Given the description of an element on the screen output the (x, y) to click on. 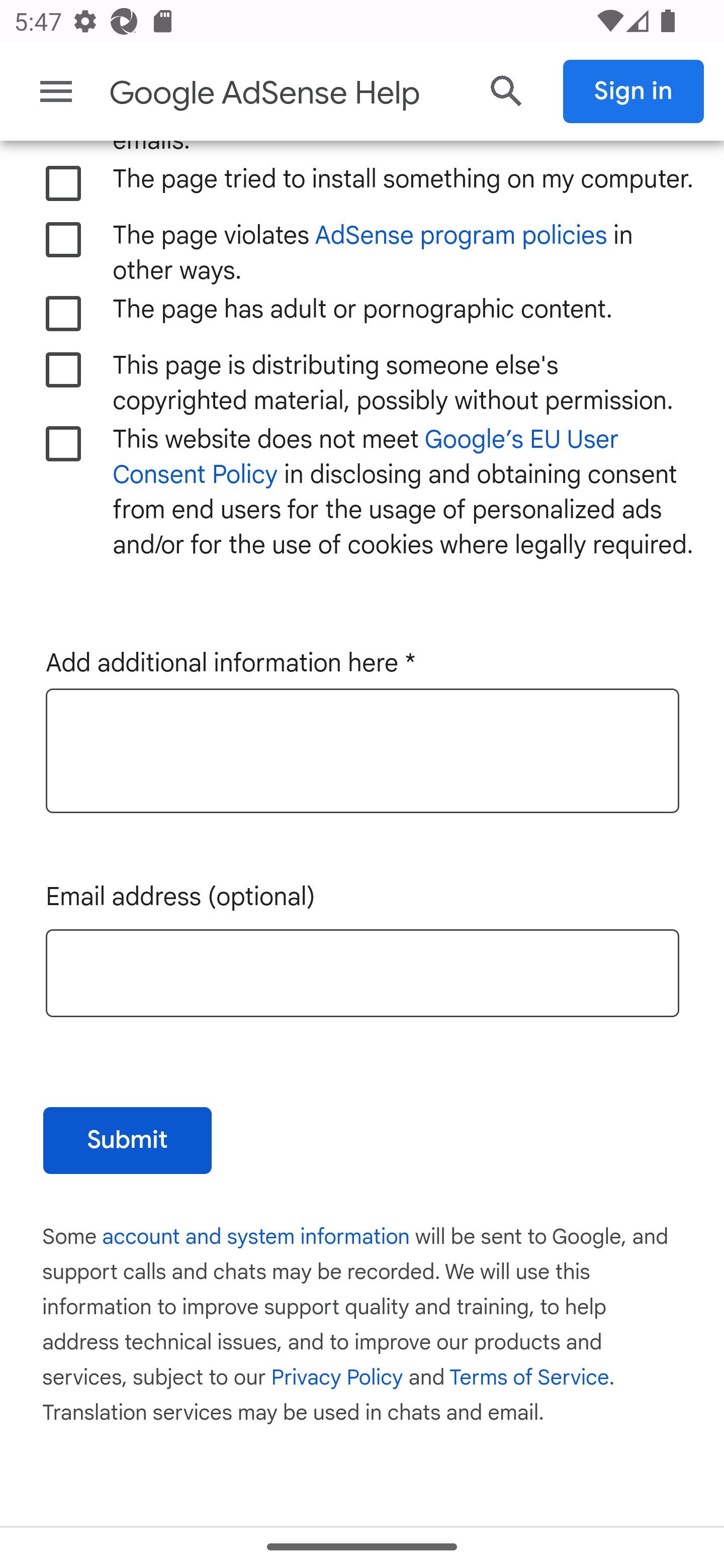
Main menu (56, 91)
Google AdSense Help (285, 92)
Search Help Center (506, 91)
Sign in (634, 91)
The page has adult or pornographic content. (63, 314)
Submit (126, 1140)
account and system information (256, 1238)
Privacy Policy (337, 1378)
Terms of Service (529, 1378)
